Given the description of an element on the screen output the (x, y) to click on. 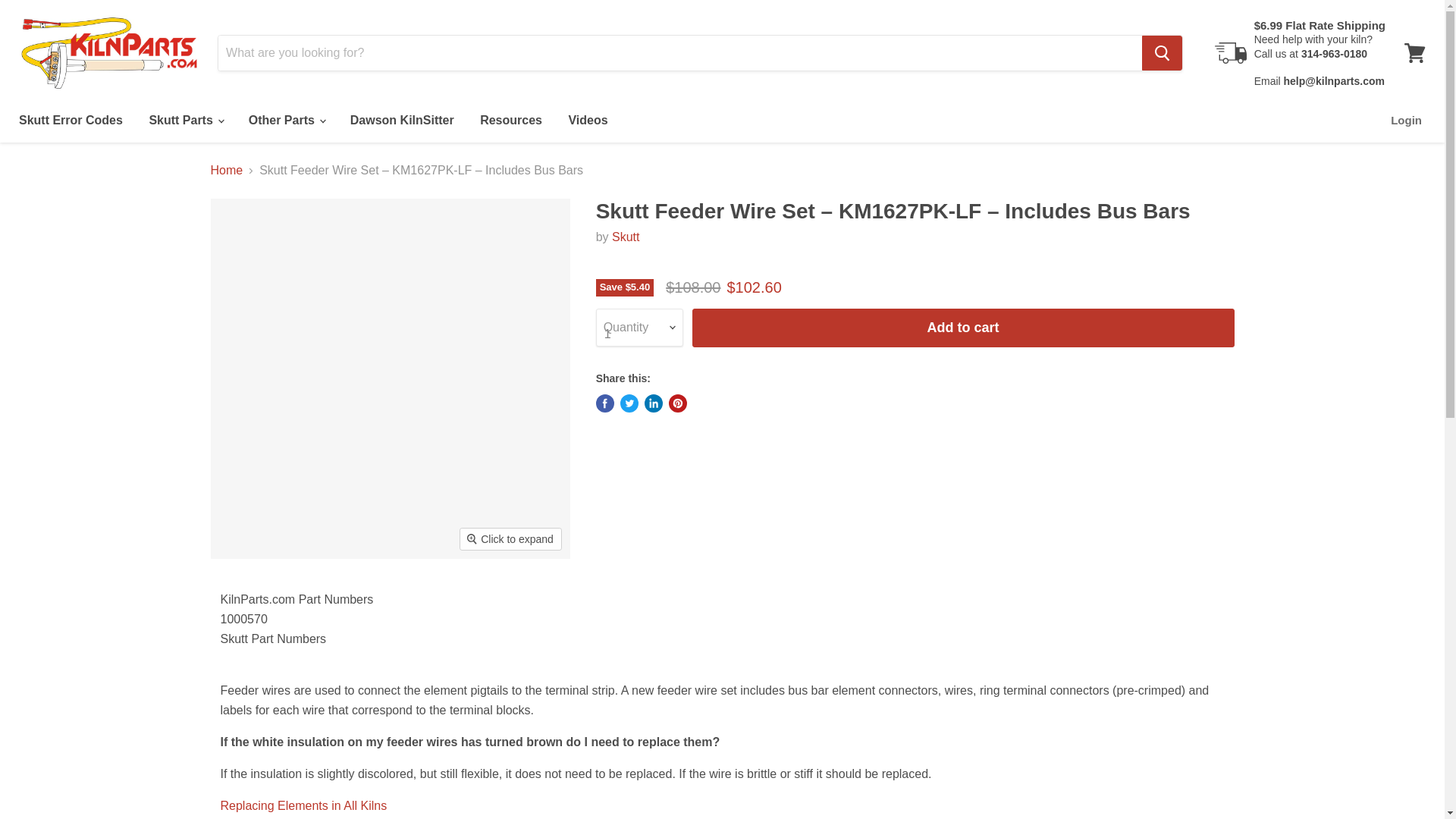
Dawson KilnSitter (402, 120)
Skutt Parts (184, 120)
Skutt Error Codes (70, 120)
Login (1406, 120)
Other Parts (286, 120)
Skutt (625, 236)
Resources (510, 120)
View cart (1414, 53)
Videos (587, 120)
